Given the description of an element on the screen output the (x, y) to click on. 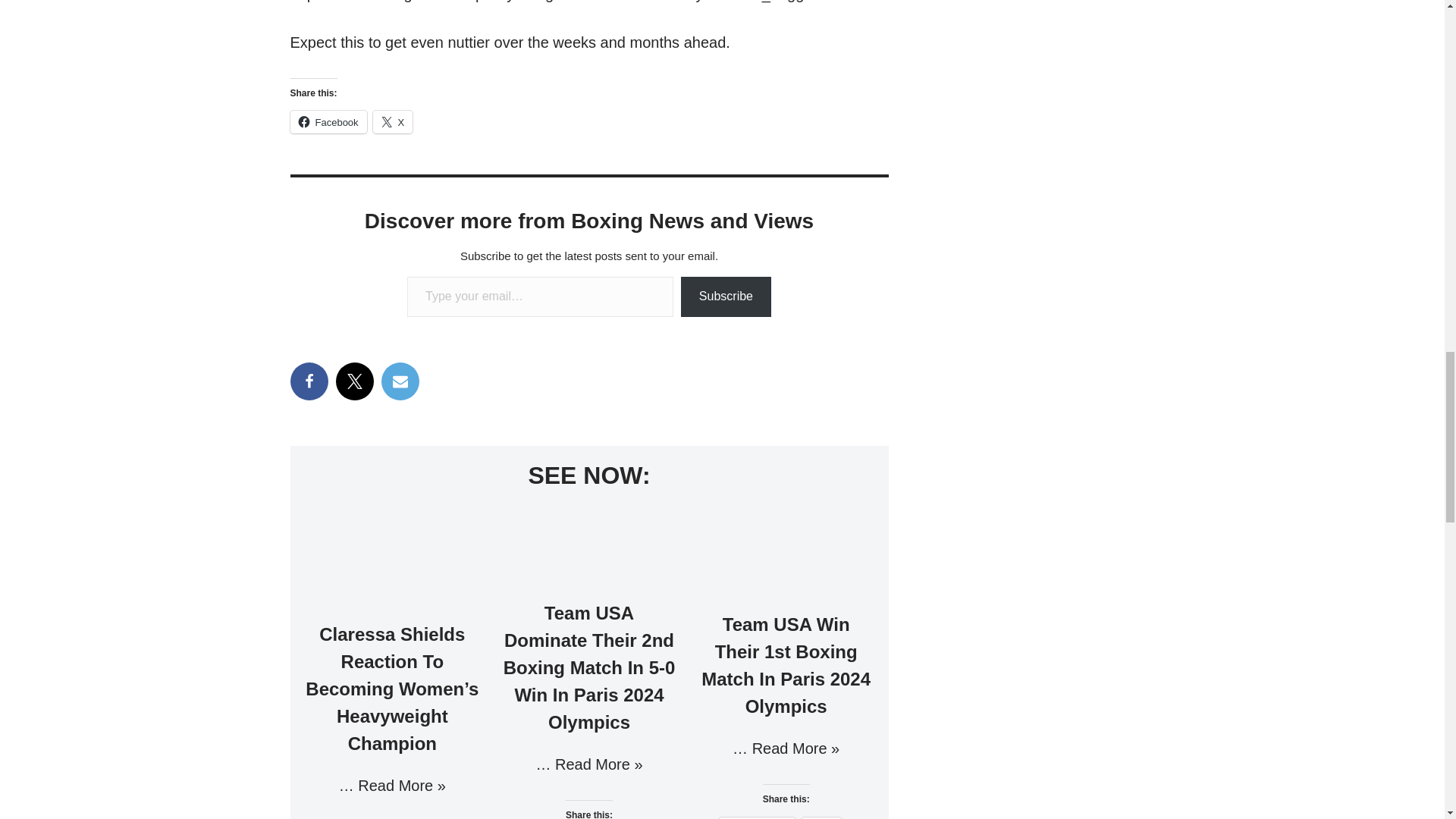
Click to share on Facebook (327, 121)
Facebook (327, 121)
X (392, 121)
Subscribe (726, 296)
